Given the description of an element on the screen output the (x, y) to click on. 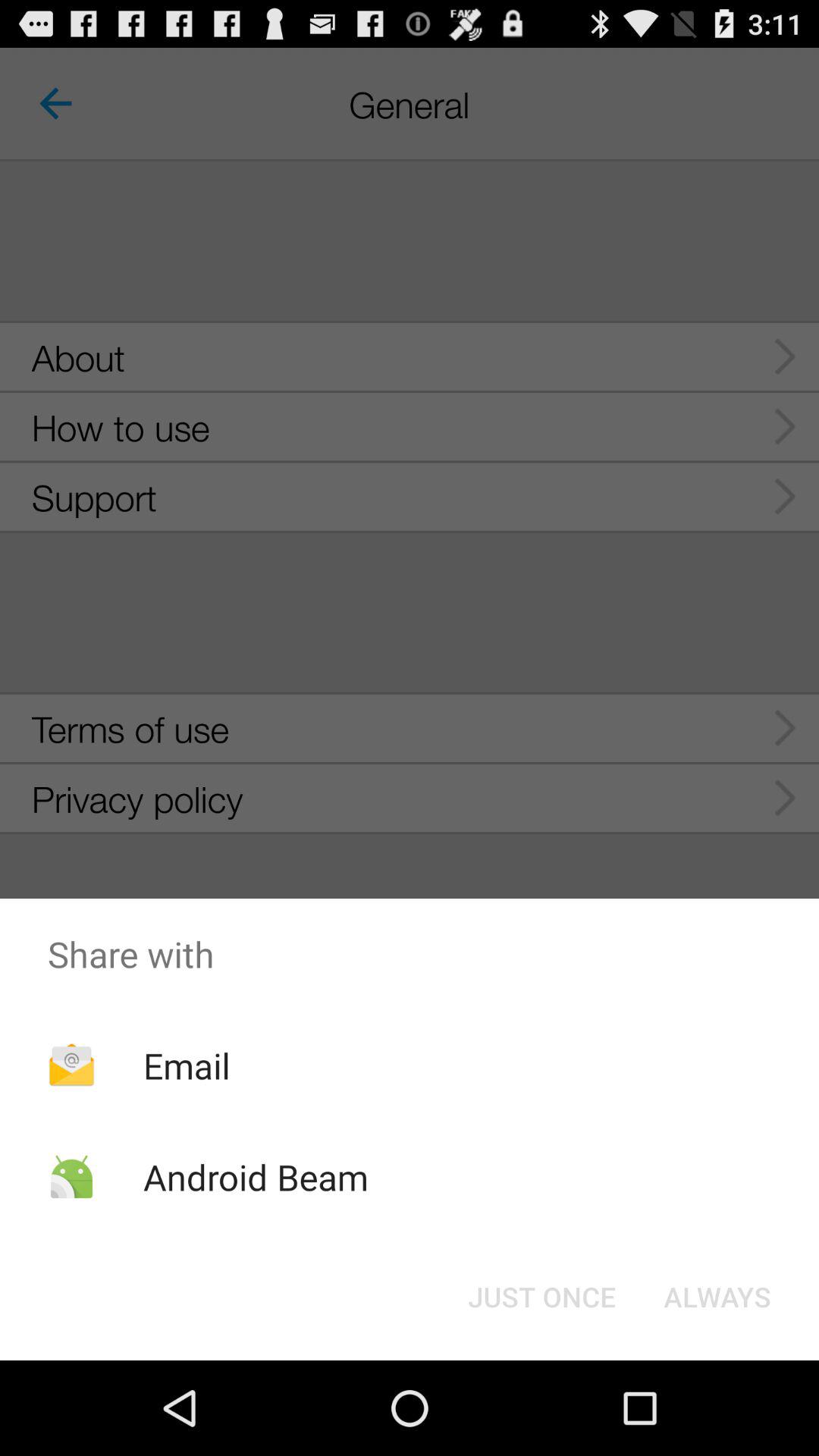
tap always button (717, 1296)
